Given the description of an element on the screen output the (x, y) to click on. 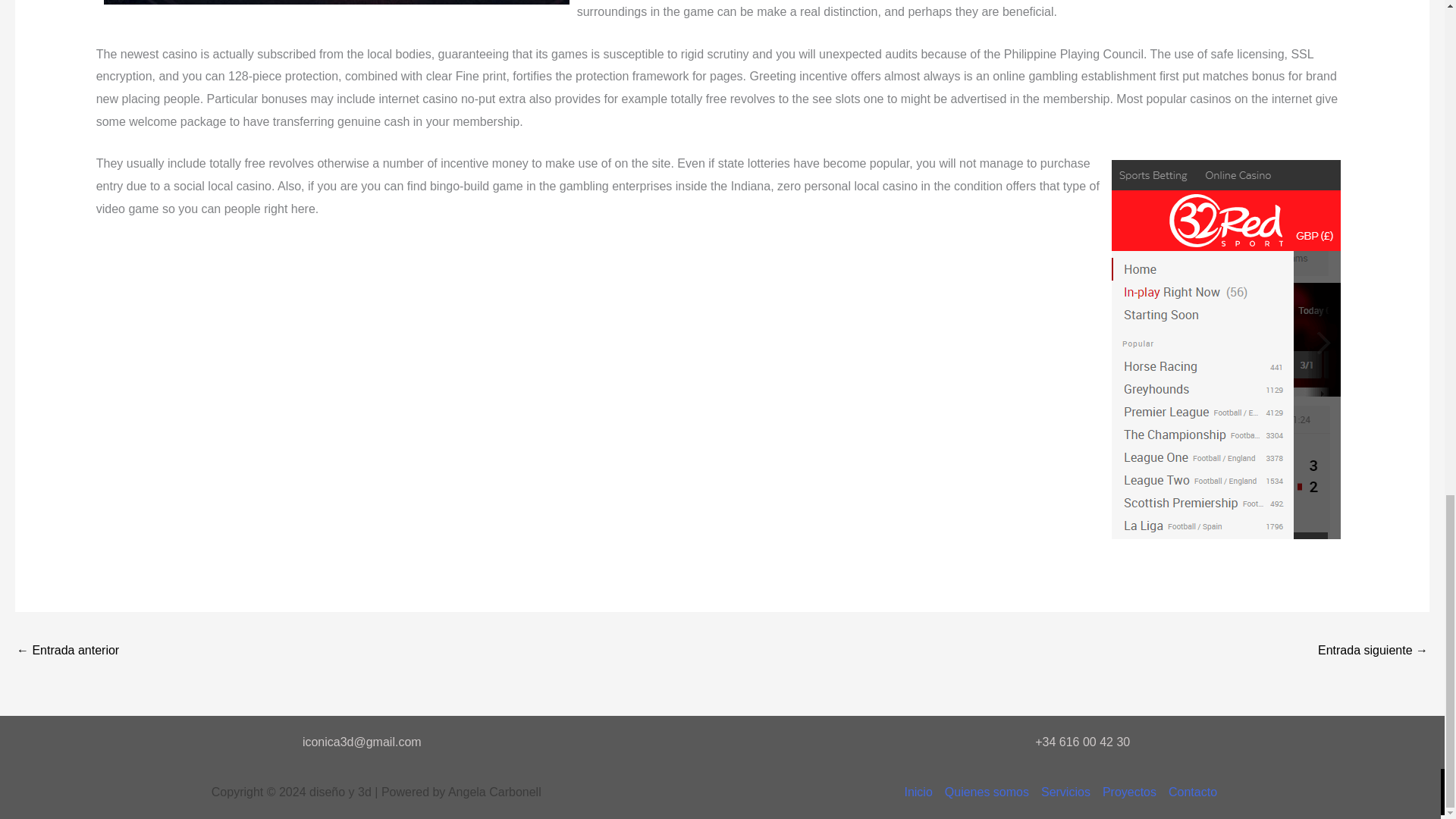
Quienes somos (987, 792)
Servicios (1065, 792)
Contacto (1189, 792)
Inicio (920, 792)
Proyectos (1128, 792)
Leovegas Gambling establishment ten Free Revolves No-deposit (1372, 651)
